Given the description of an element on the screen output the (x, y) to click on. 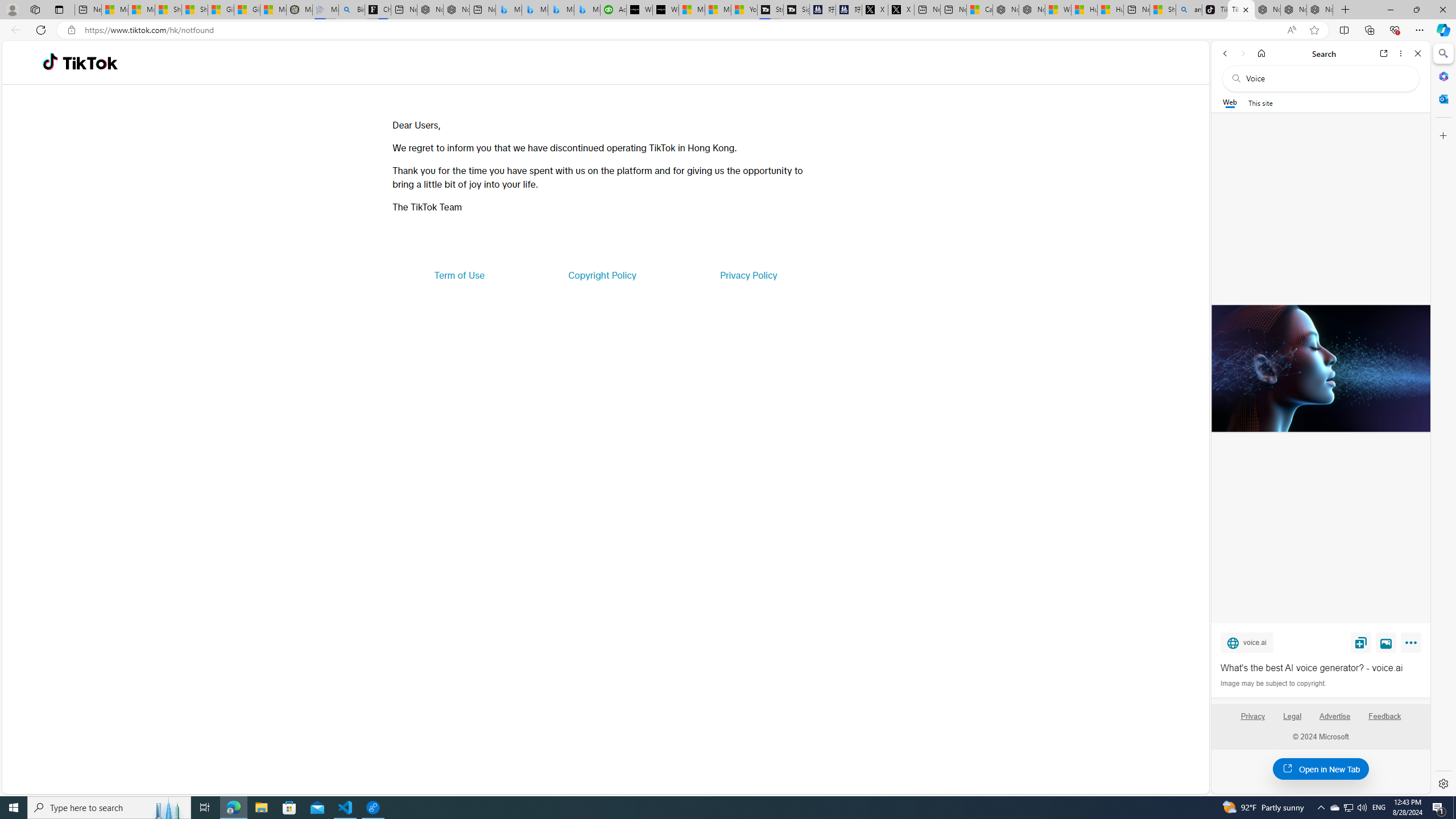
Web scope (1230, 102)
Accounting Software for Accountants, CPAs and Bookkeepers (613, 9)
Shanghai, China hourly forecast | Microsoft Weather (1162, 9)
Nordace Siena Pro 15 Backpack (1293, 9)
View image (1385, 642)
Legal (1292, 720)
Image may be subject to copyright. (1273, 682)
